Given the description of an element on the screen output the (x, y) to click on. 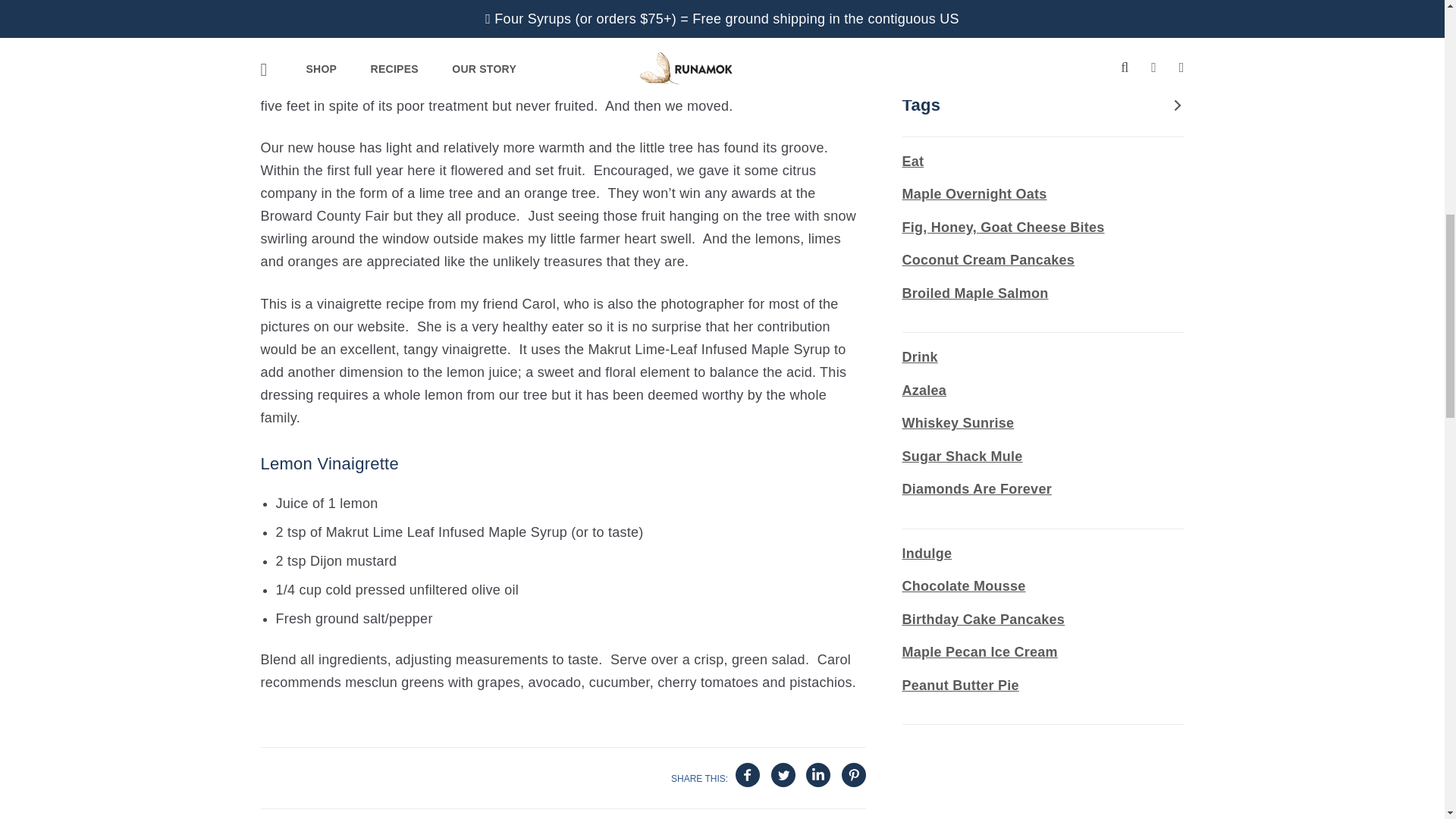
Facebook (747, 774)
Share on Twitter (782, 774)
Pin on Pinterest (853, 774)
Share on Linkedin (817, 774)
Twitter (782, 774)
Share on Facebook (747, 774)
Pinterest (852, 774)
